Given the description of an element on the screen output the (x, y) to click on. 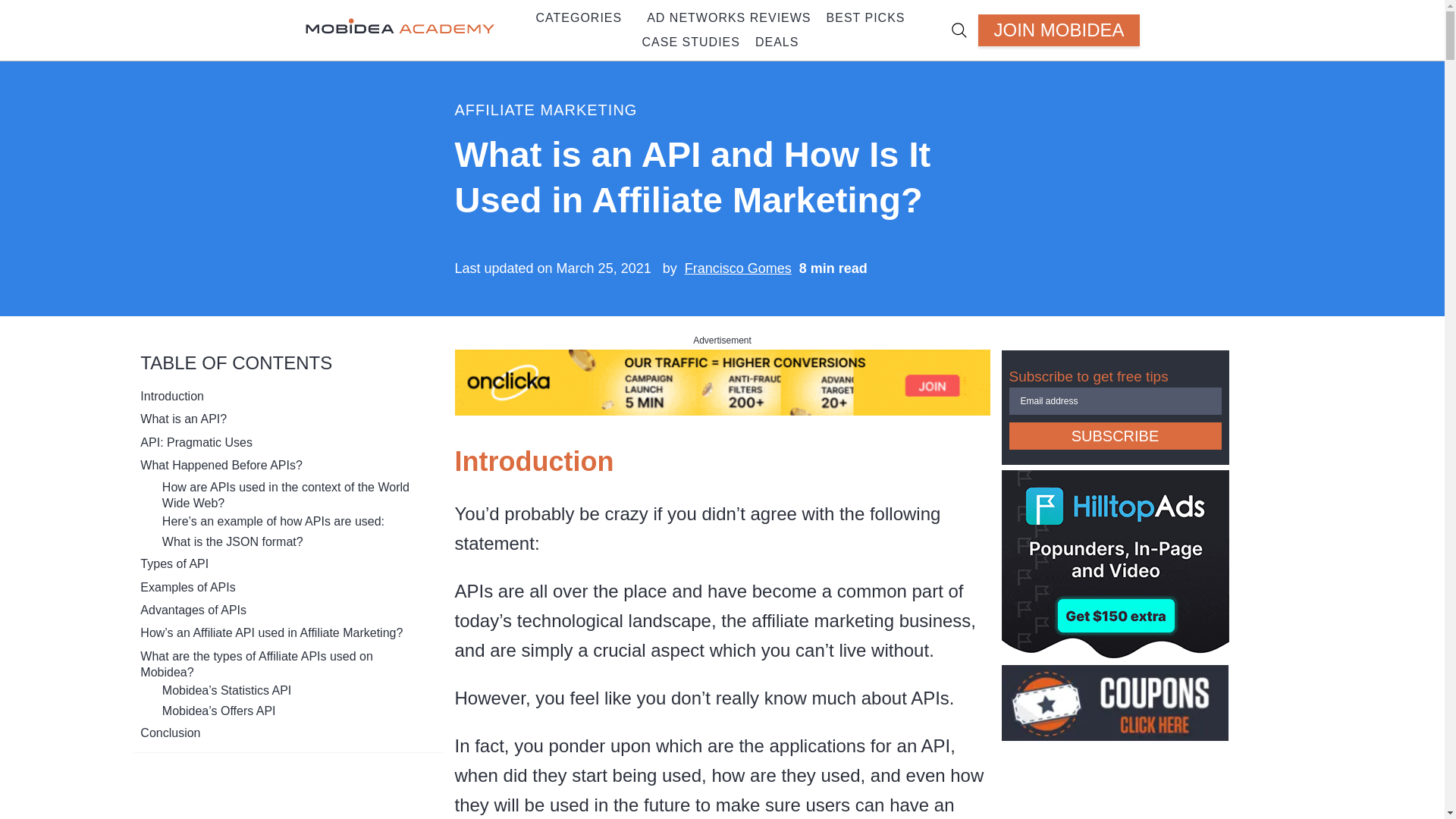
DEALS (772, 42)
AD NETWORKS REVIEWS (728, 17)
What Happened Before APIs? (220, 465)
API: Pragmatic Uses (195, 442)
CATEGORIES (574, 17)
How are APIs used in the context of the World Wide Web? (294, 495)
Examples of APIs (186, 587)
What are the types of Affiliate APIs used on Mobidea? (283, 664)
What is an API? (183, 418)
What is the JSON format? (231, 541)
CASE STUDIES (691, 42)
Types of API (173, 563)
Introduction (171, 396)
banner placement 1 (722, 408)
BEST PICKS (861, 17)
